Given the description of an element on the screen output the (x, y) to click on. 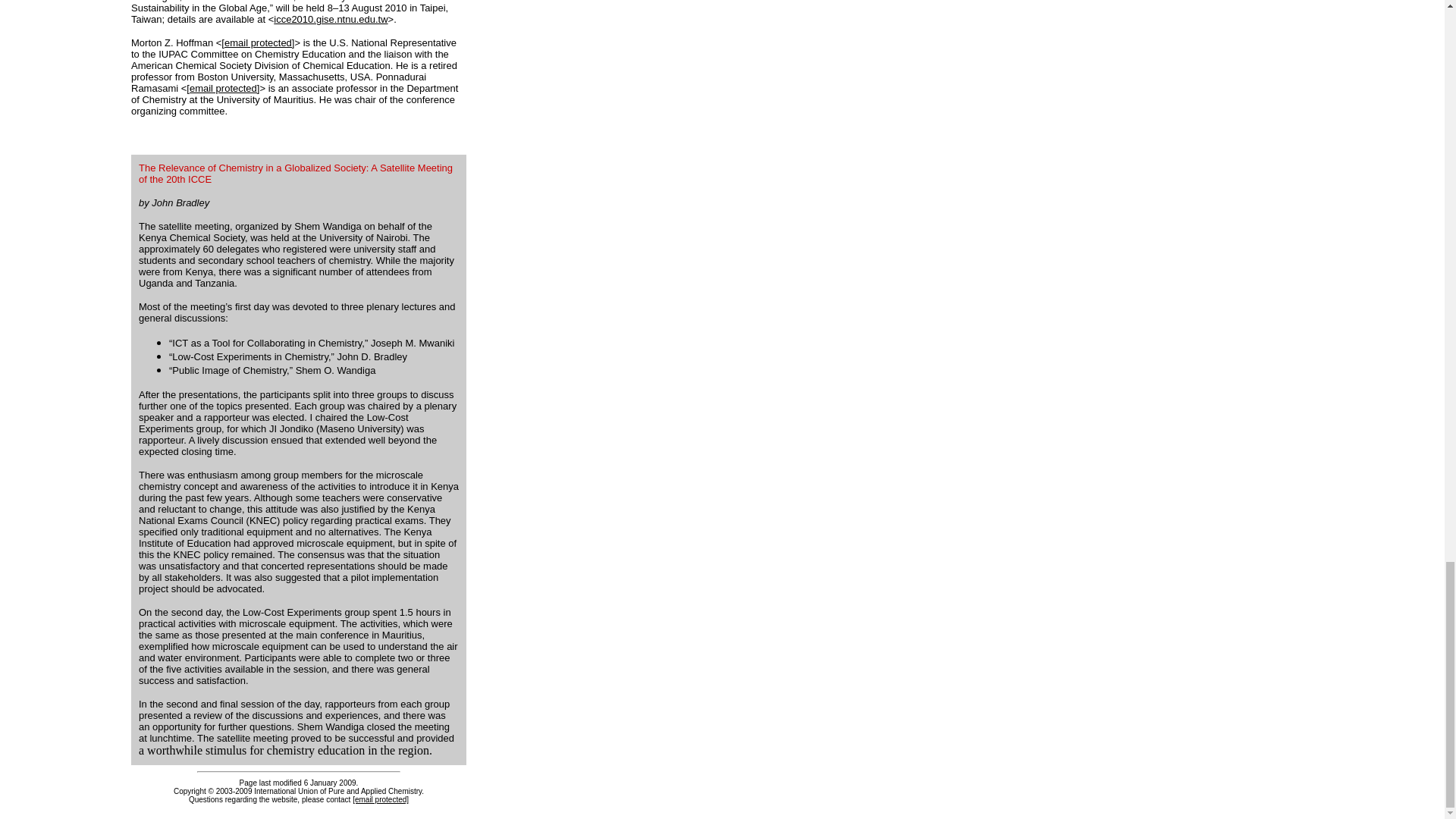
icce2010.gise.ntnu.edu.tw (330, 19)
